Given the description of an element on the screen output the (x, y) to click on. 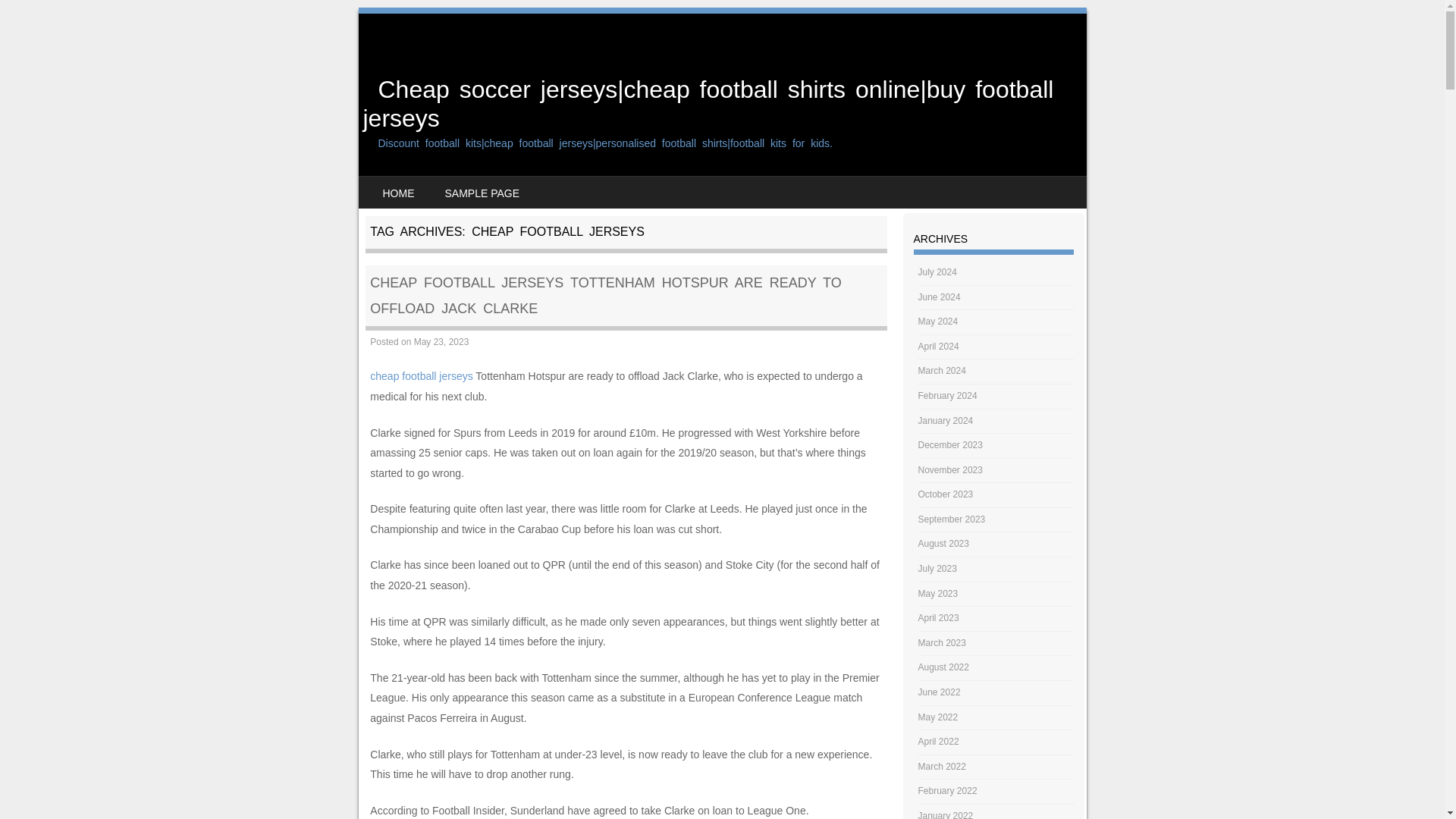
May 23, 2023 (440, 341)
SKIP TO CONTENT (405, 186)
SAMPLE PAGE (481, 192)
cheap football jerseys (420, 376)
Skip to content (405, 186)
HOME (397, 192)
2:54 am (440, 341)
